Given the description of an element on the screen output the (x, y) to click on. 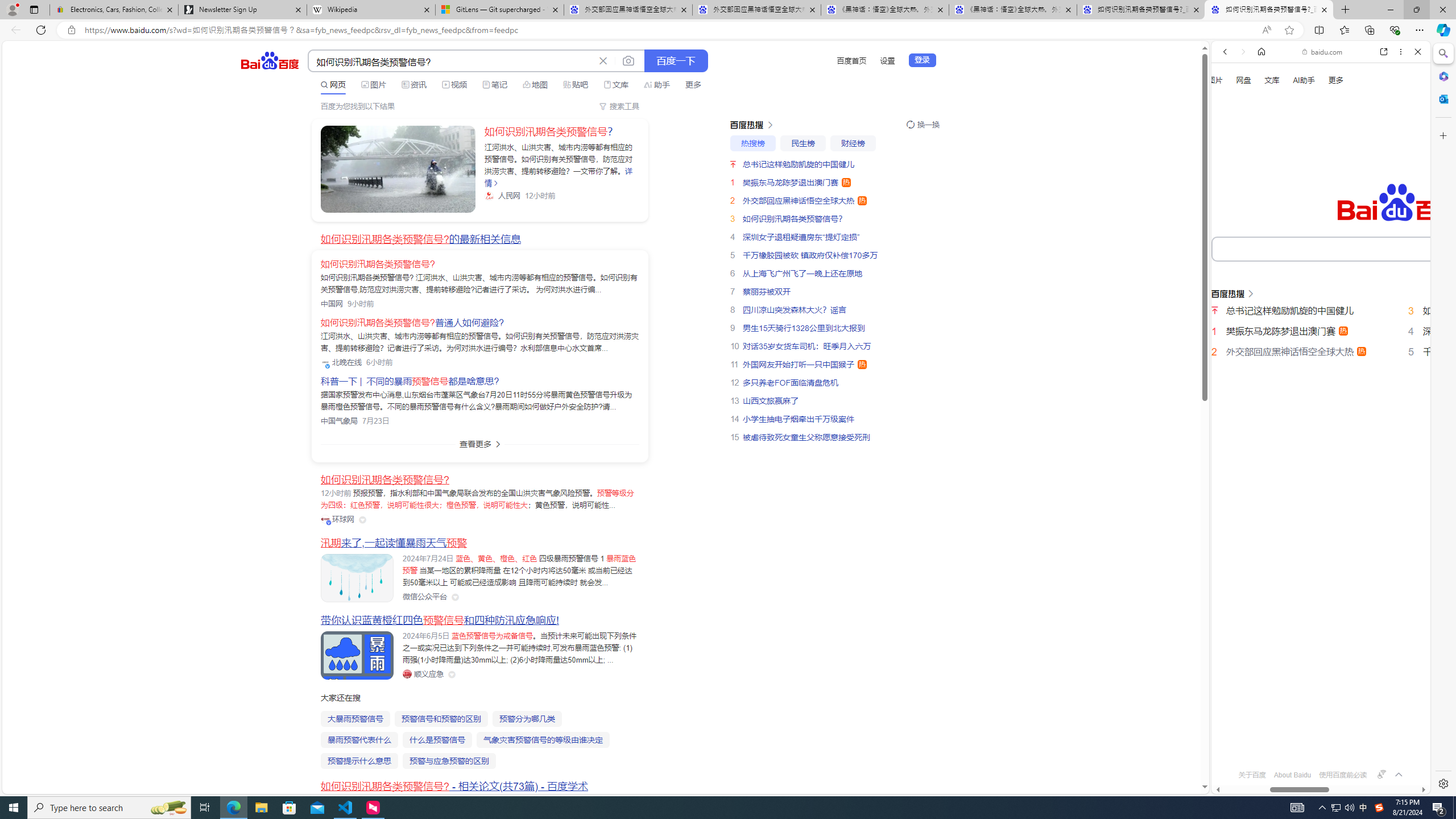
English (Uk) (1320, 357)
Wikipedia (370, 9)
Forward (1242, 51)
SEARCH TOOLS (1350, 192)
Search Filter, Search Tools (1350, 192)
Web scope (1230, 102)
